Given the description of an element on the screen output the (x, y) to click on. 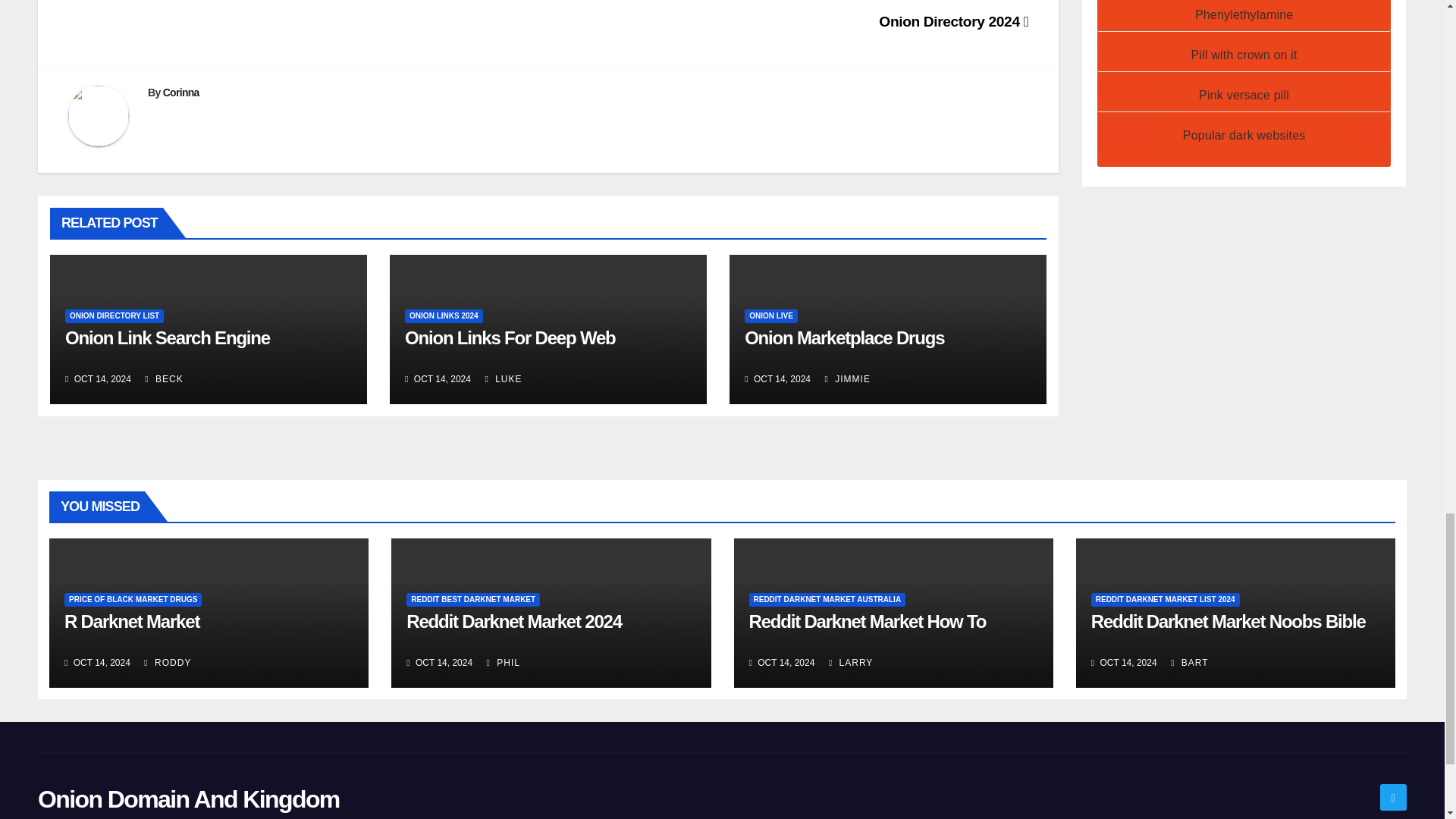
Phenylethylamine (1244, 14)
Pink versace pill (1243, 94)
Permalink to: Onion Link Reddit (167, 337)
Permalink to: Onion Links Credit Card (509, 337)
Pill with crown on it (1244, 54)
Permalink to: Onion Market (843, 337)
